Given the description of an element on the screen output the (x, y) to click on. 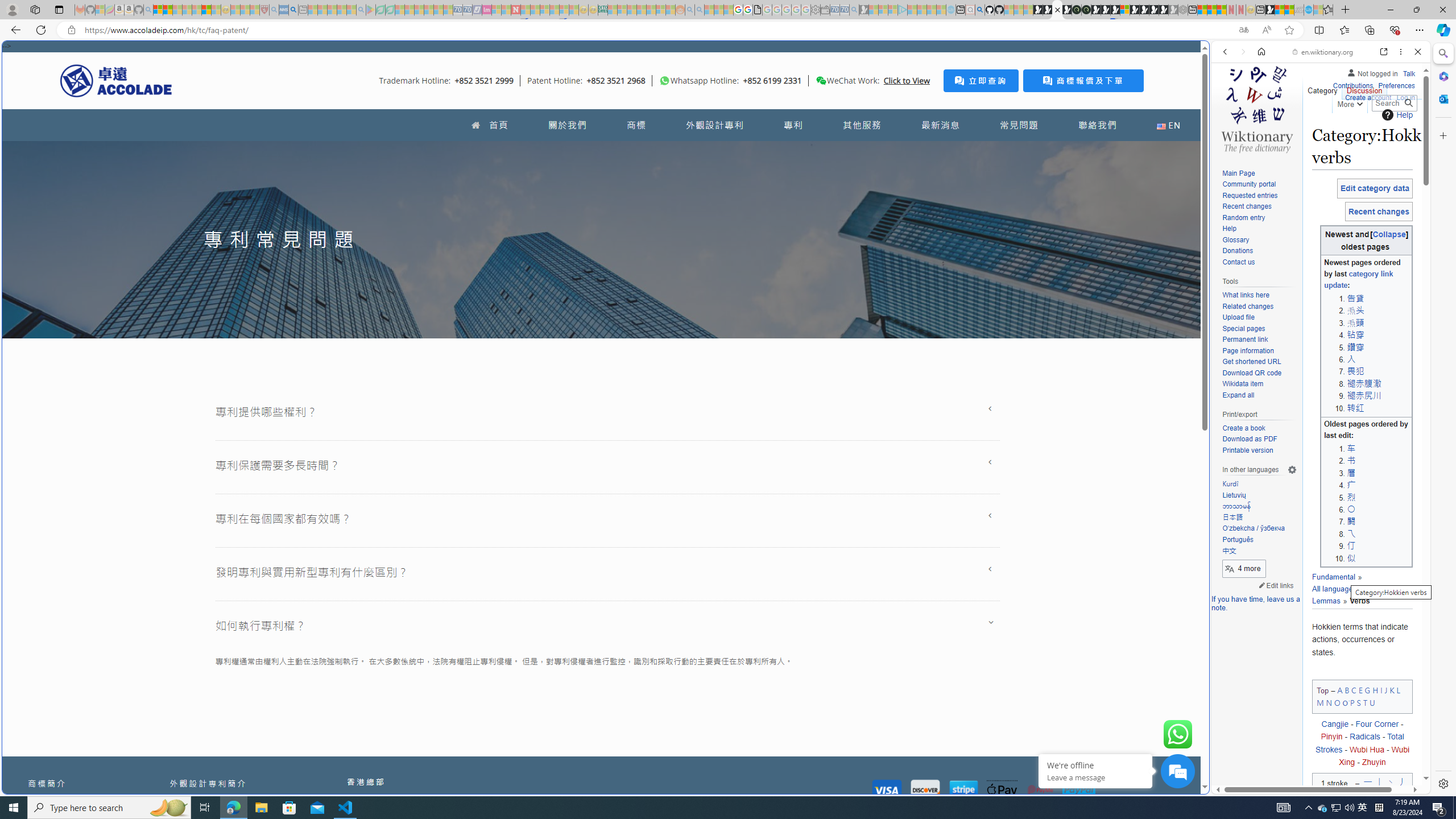
Special pages (1259, 328)
Download QR code (1251, 372)
All languages (1333, 588)
Not logged in (1371, 71)
Create a book (1243, 427)
